Given the description of an element on the screen output the (x, y) to click on. 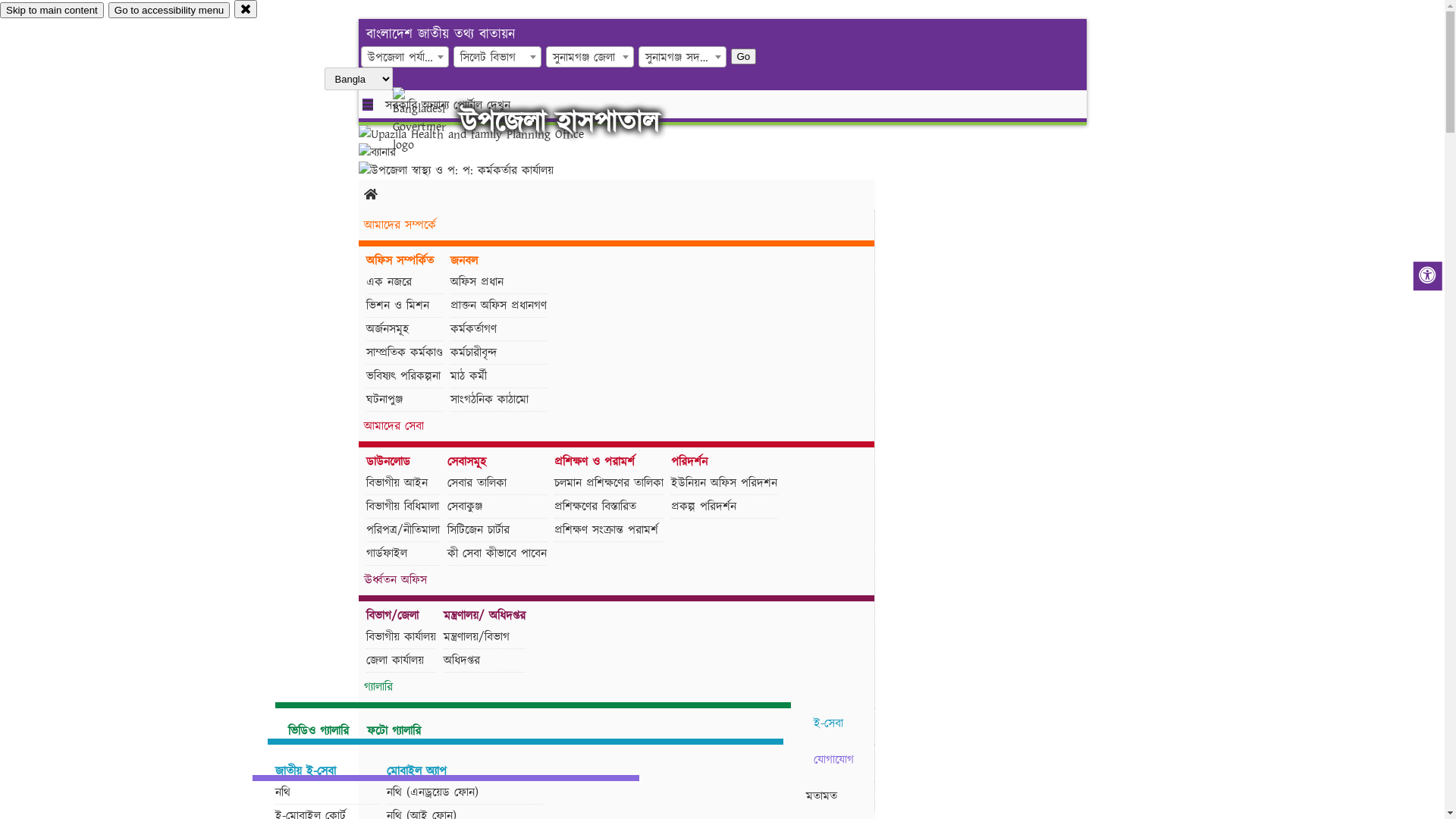

                
             Element type: hover (431, 120)
Go Element type: text (743, 56)
Go to accessibility menu Element type: text (168, 10)
close Element type: hover (245, 9)
Skip to main content Element type: text (51, 10)
